Given the description of an element on the screen output the (x, y) to click on. 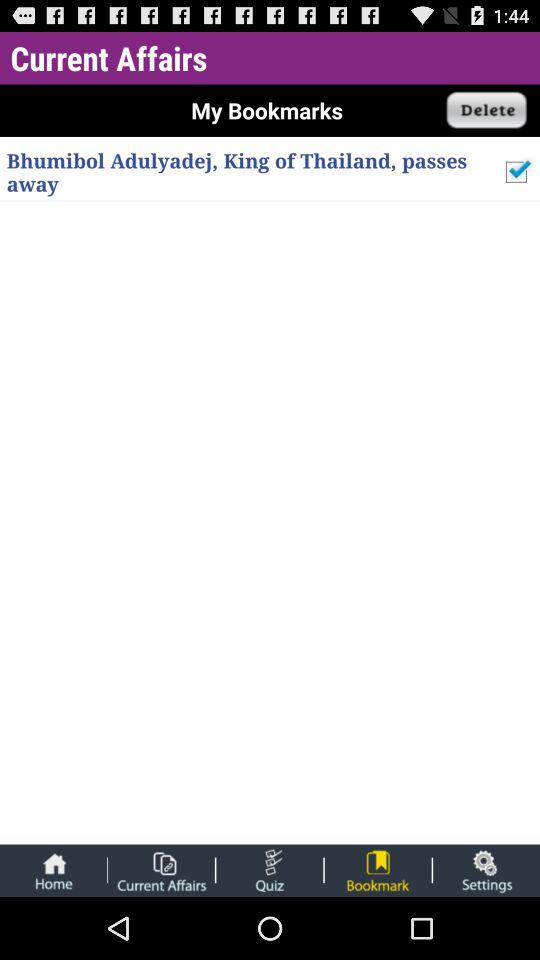
take quiz (269, 870)
